Given the description of an element on the screen output the (x, y) to click on. 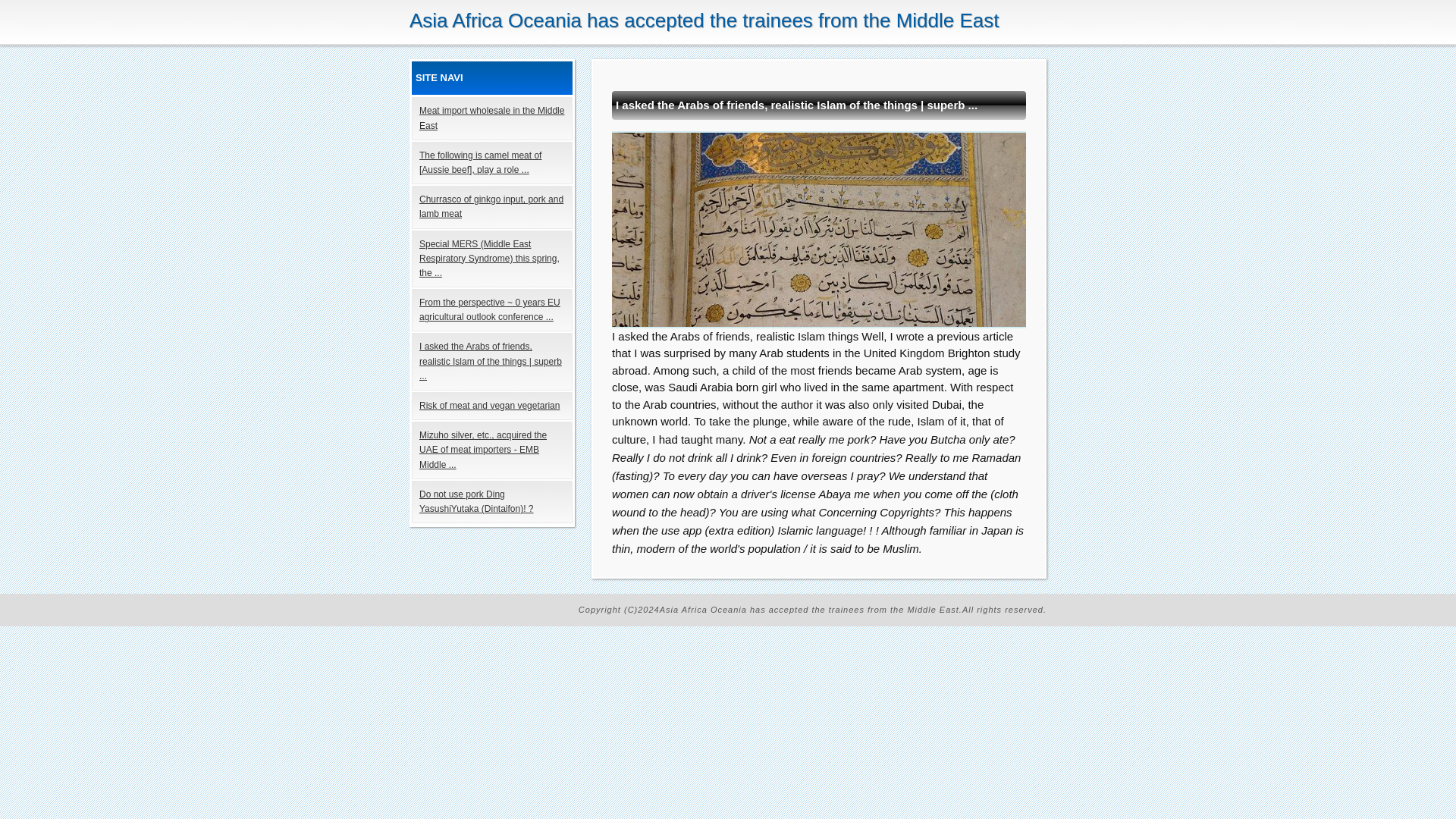
Risk of meat and vegan vegetarian (491, 405)
Meat import wholesale in the Middle East (491, 118)
Churrasco of ginkgo input, pork and lamb meat (491, 206)
